Given the description of an element on the screen output the (x, y) to click on. 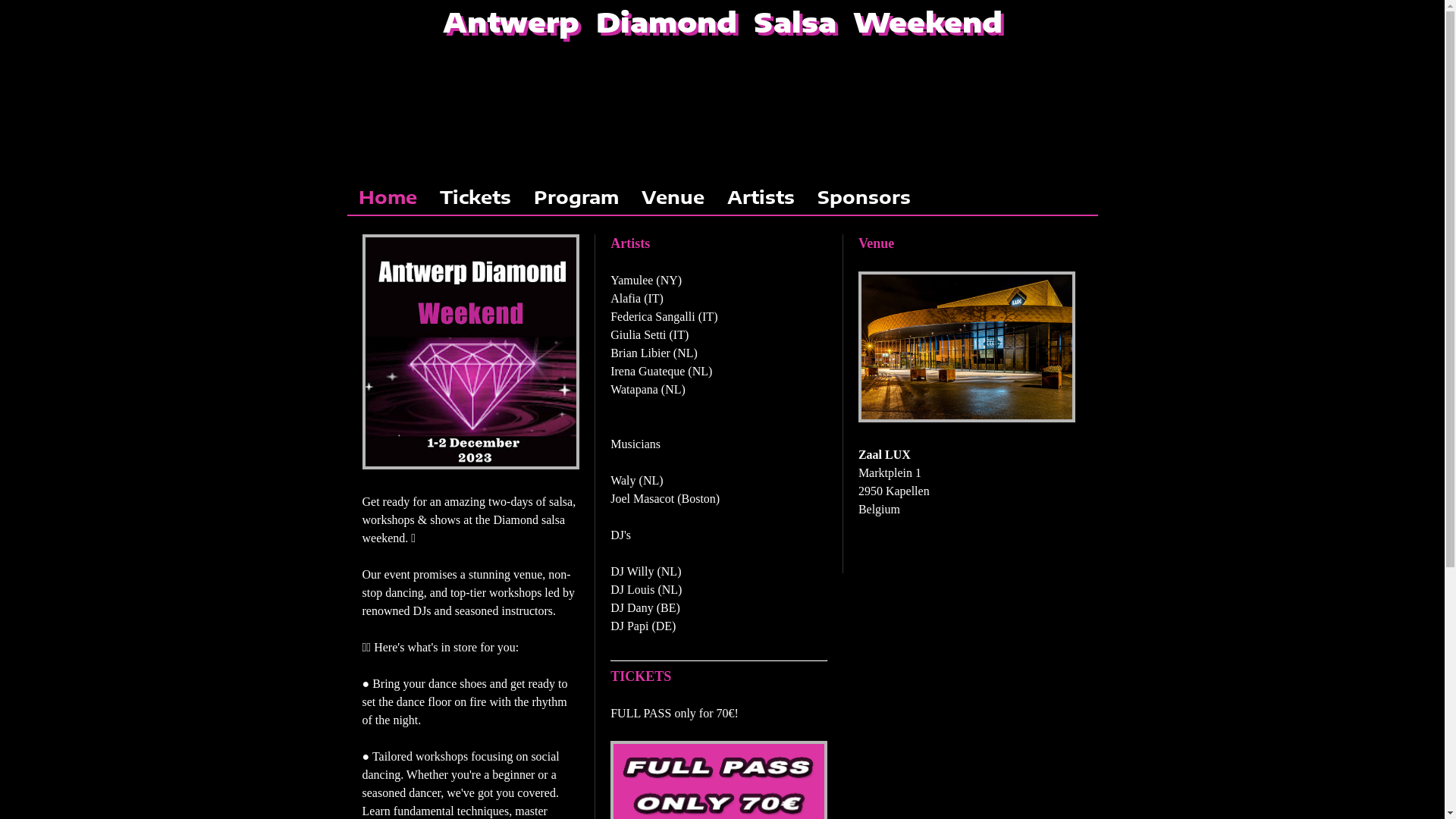
Home Element type: text (387, 196)
Venue Element type: text (876, 252)
Program Element type: text (575, 196)
Tickets Element type: text (474, 196)
Sponsors Element type: text (863, 196)
TICKETS Element type: text (640, 685)
Artists Element type: text (760, 196)
Venue Element type: text (672, 196)
Artists Element type: text (629, 252)
